Given the description of an element on the screen output the (x, y) to click on. 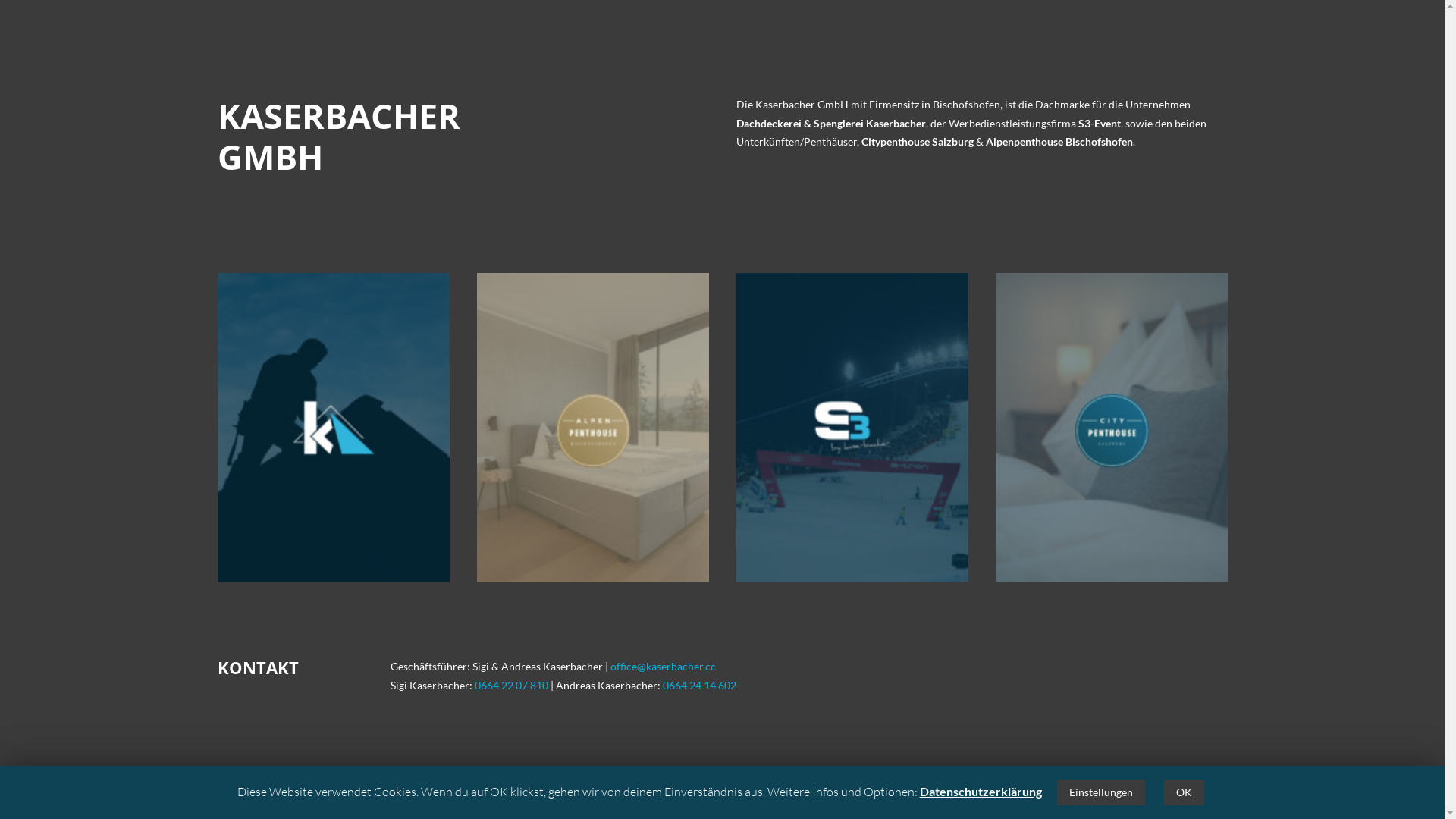
0664 24 14 602 Element type: text (699, 683)
S3-Event Element type: text (1099, 122)
Einstellungen Element type: text (1101, 792)
0664 22 07 810 Element type: text (511, 683)
OK Element type: text (1183, 792)
Alpenpenthouse Bischofshofen Element type: text (1058, 140)
office@kaserbacher.cc Element type: text (662, 665)
Dachdeckerei & Spenglerei Kaserbacher Element type: text (830, 122)
Citypenthouse Salzburg Element type: text (917, 140)
